Given the description of an element on the screen output the (x, y) to click on. 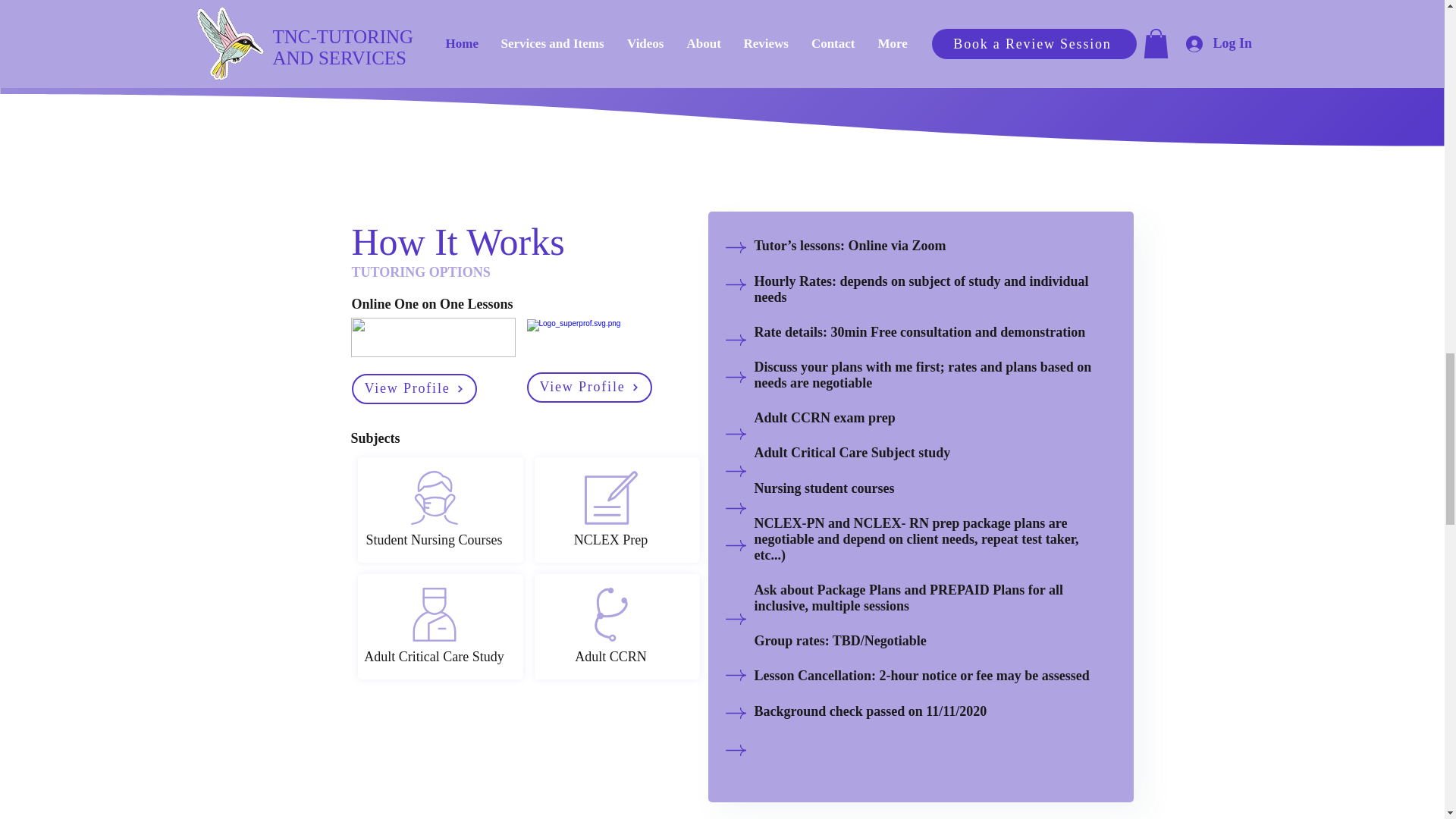
Add to Cart (408, 36)
Add to Cart (828, 36)
Add to Cart (617, 36)
Add to Cart (1036, 36)
